Given the description of an element on the screen output the (x, y) to click on. 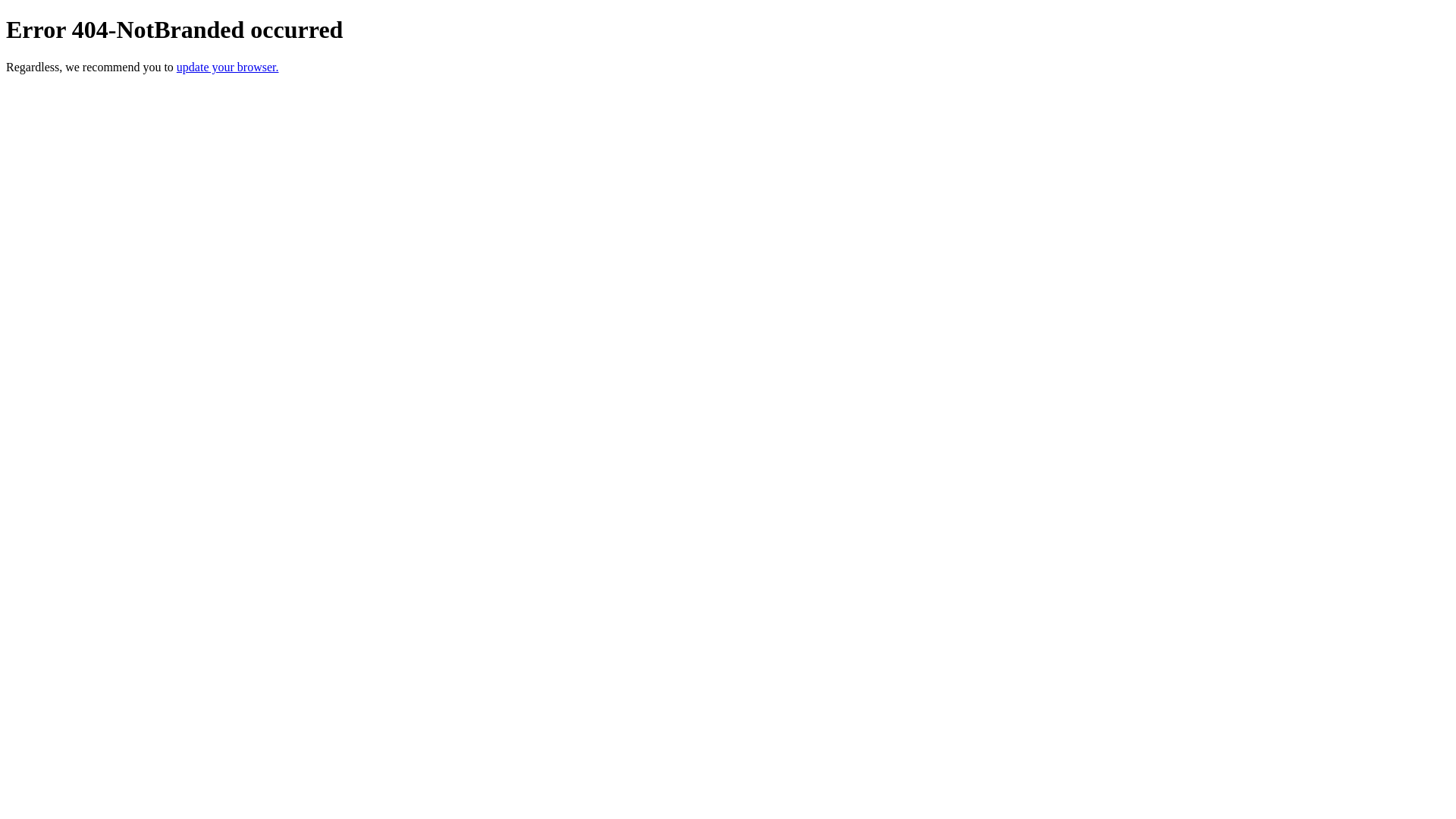
update your browser. Element type: text (227, 66)
